Given the description of an element on the screen output the (x, y) to click on. 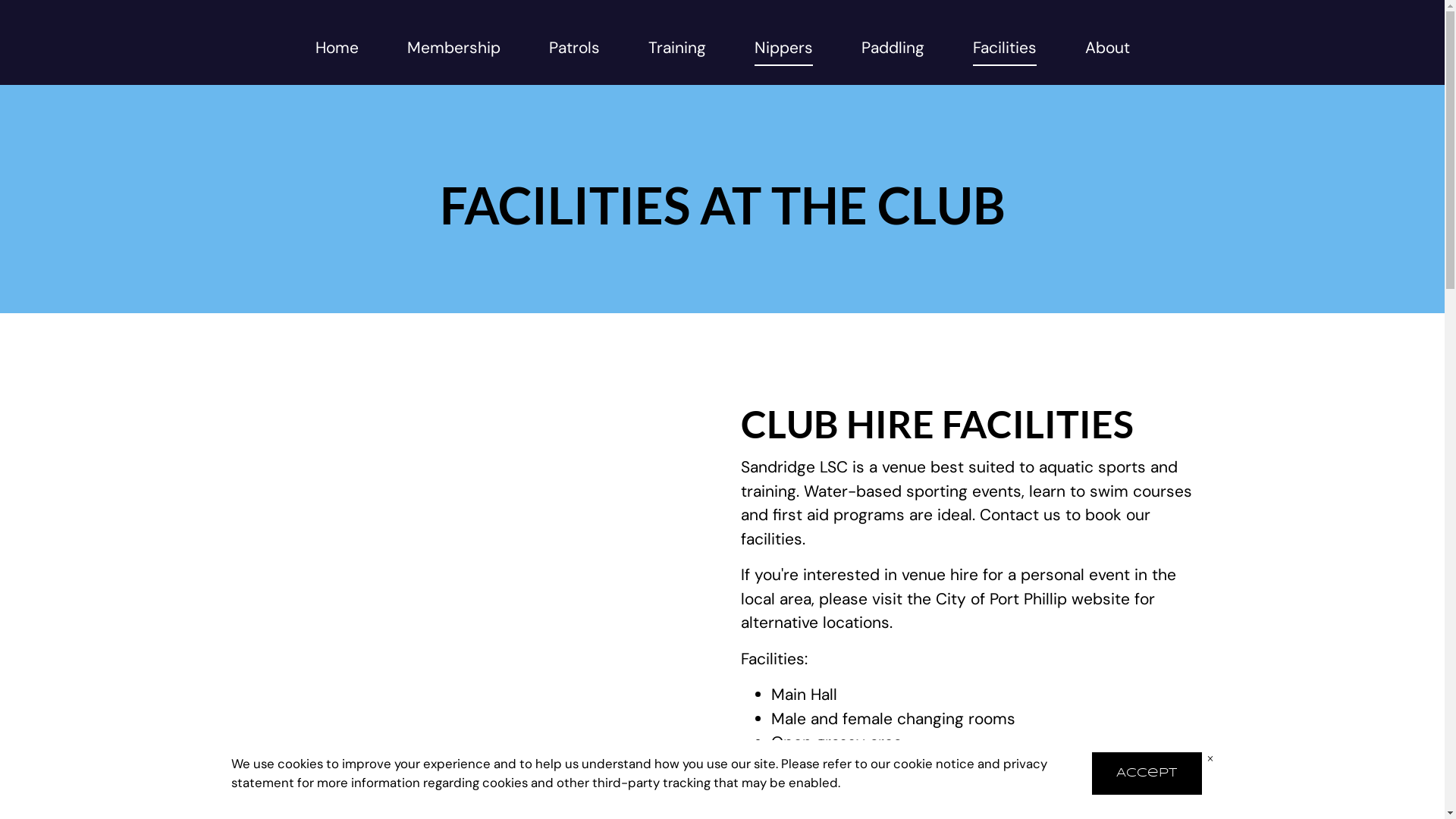
Nippers Element type: text (782, 51)
About Element type: text (1106, 47)
Accept Element type: text (1146, 773)
Home Element type: text (336, 47)
Membership Element type: text (452, 47)
Patrols Element type: text (574, 47)
Training Element type: text (676, 47)
Paddling Element type: text (892, 47)
Facilities Element type: text (1003, 51)
